Given the description of an element on the screen output the (x, y) to click on. 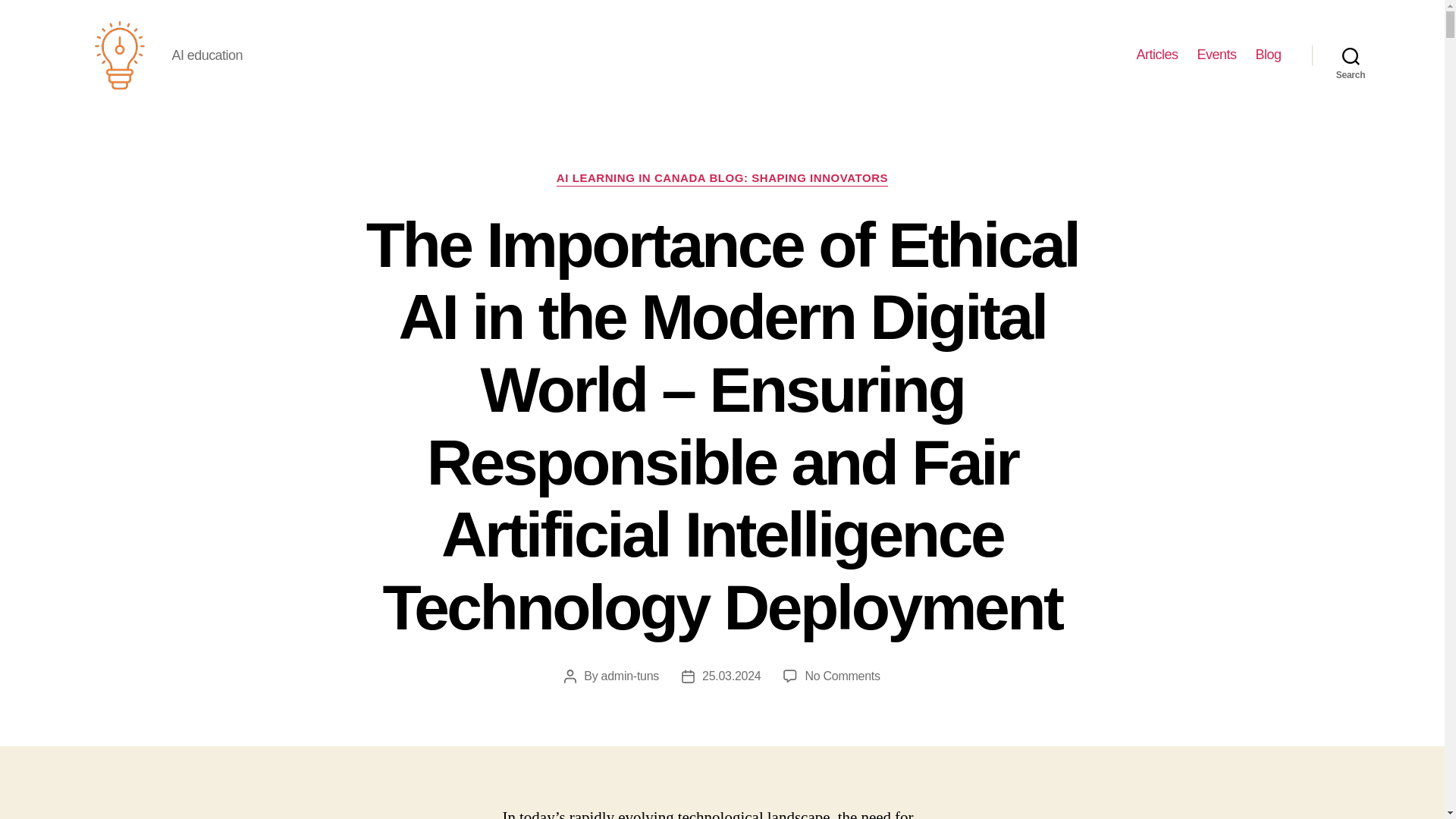
admin-tuns (630, 675)
Search (1350, 55)
Articles (1156, 54)
AI LEARNING IN CANADA BLOG: SHAPING INNOVATORS (722, 178)
Events (1216, 54)
Blog (1268, 54)
25.03.2024 (730, 675)
